Given the description of an element on the screen output the (x, y) to click on. 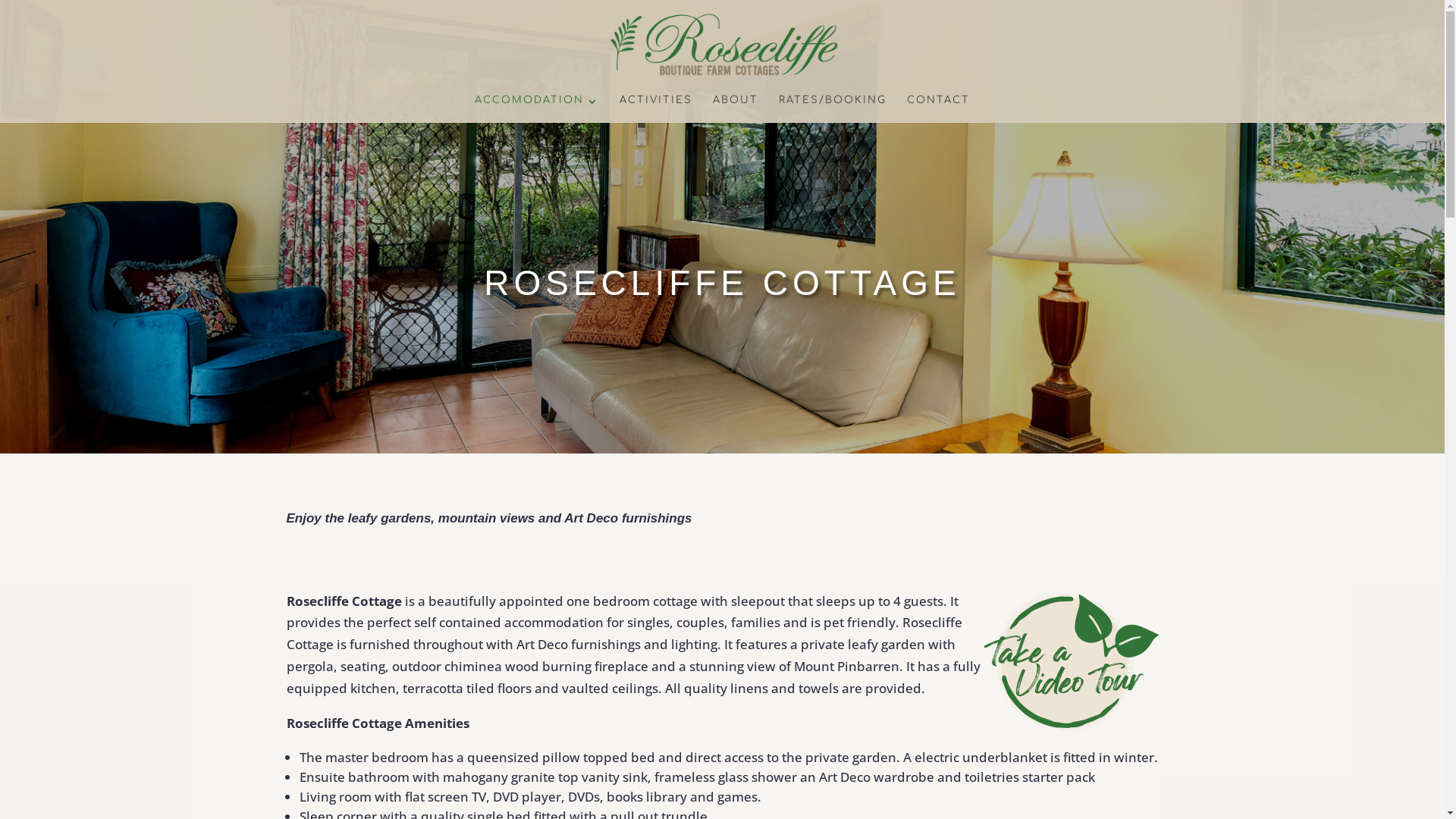
CONTACT Element type: text (937, 108)
ACTIVITIES Element type: text (655, 108)
ABOUT Element type: text (735, 108)
RATES/BOOKING Element type: text (832, 108)
ACCOMODATION Element type: text (536, 108)
